Given the description of an element on the screen output the (x, y) to click on. 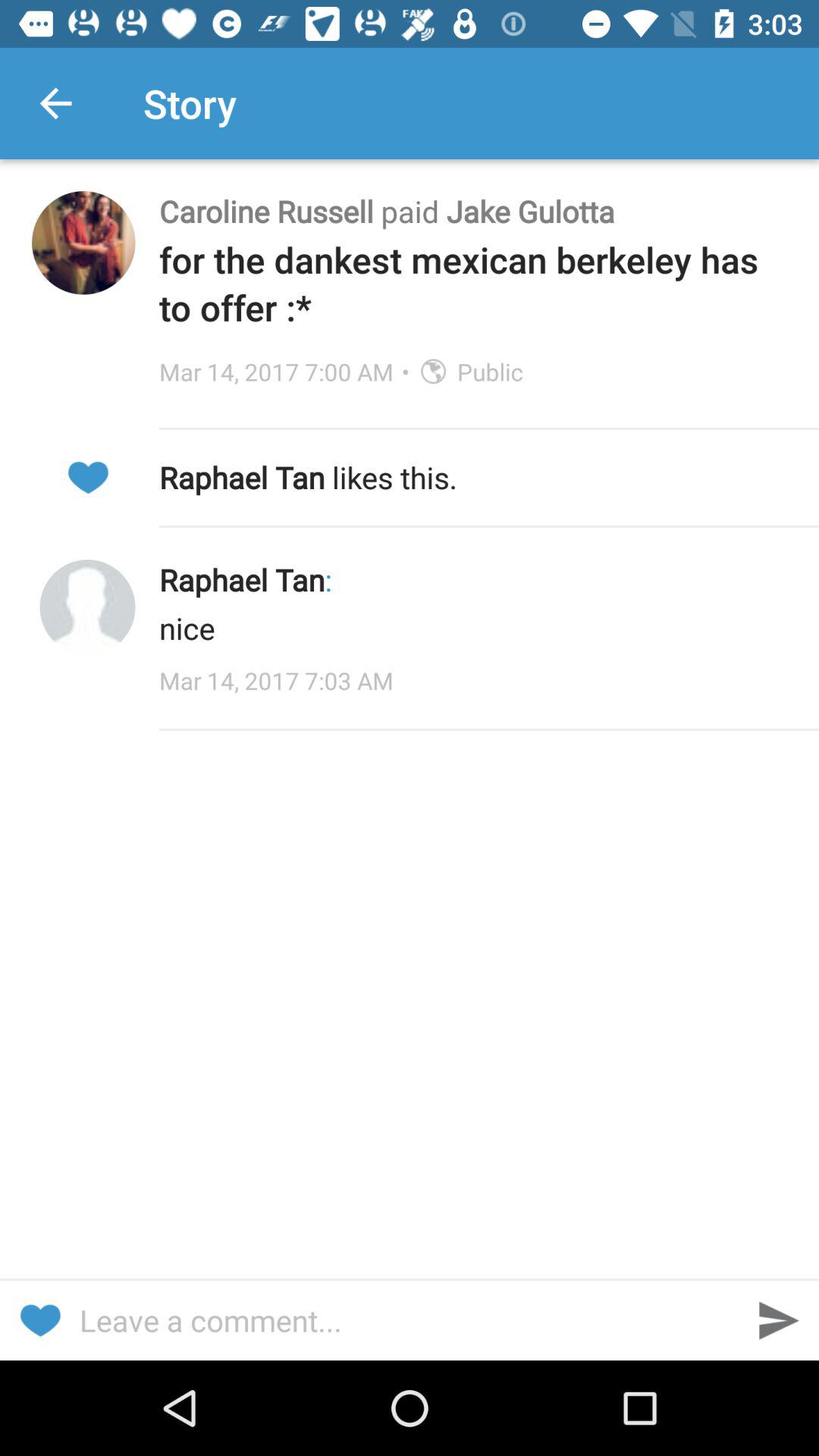
send heart (39, 1320)
